Given the description of an element on the screen output the (x, y) to click on. 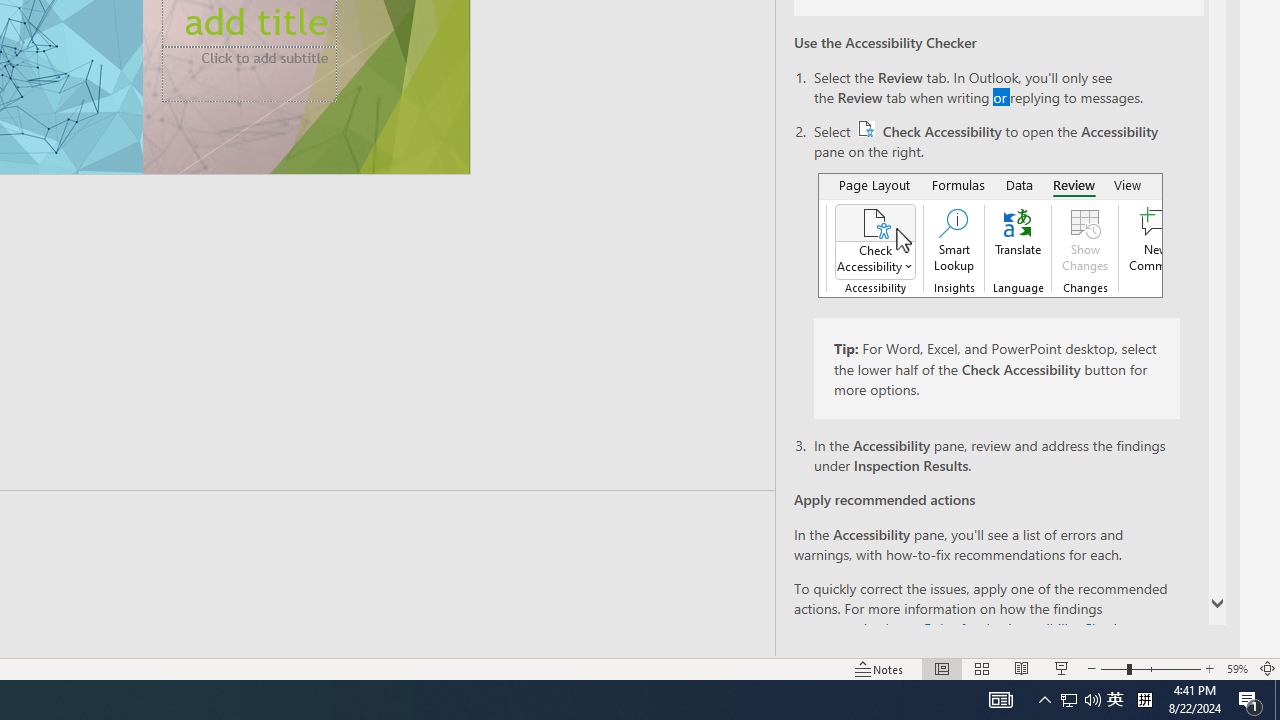
Subtitle TextBox (249, 74)
